Given the description of an element on the screen output the (x, y) to click on. 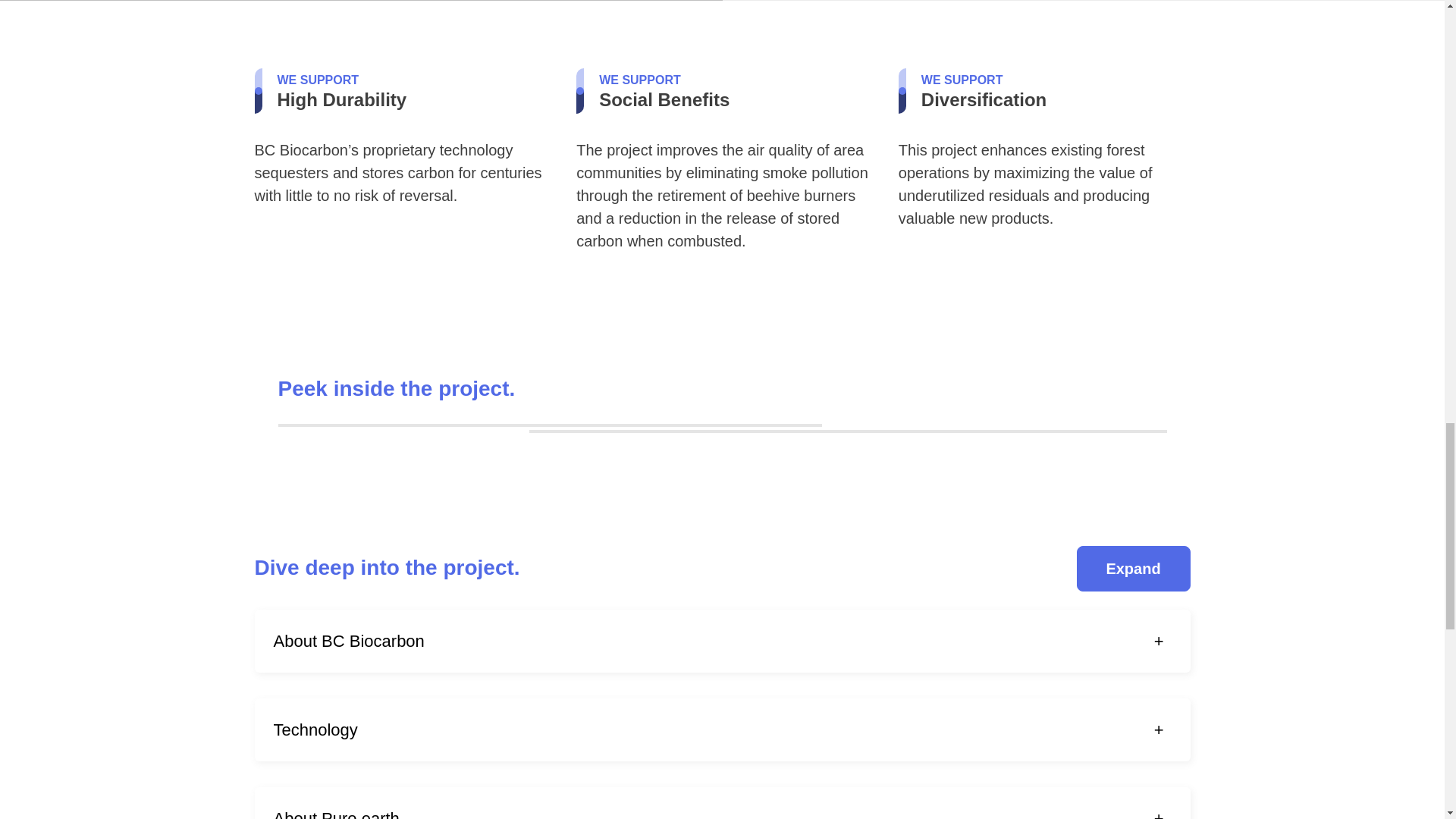
Expand (1134, 568)
